Given the description of an element on the screen output the (x, y) to click on. 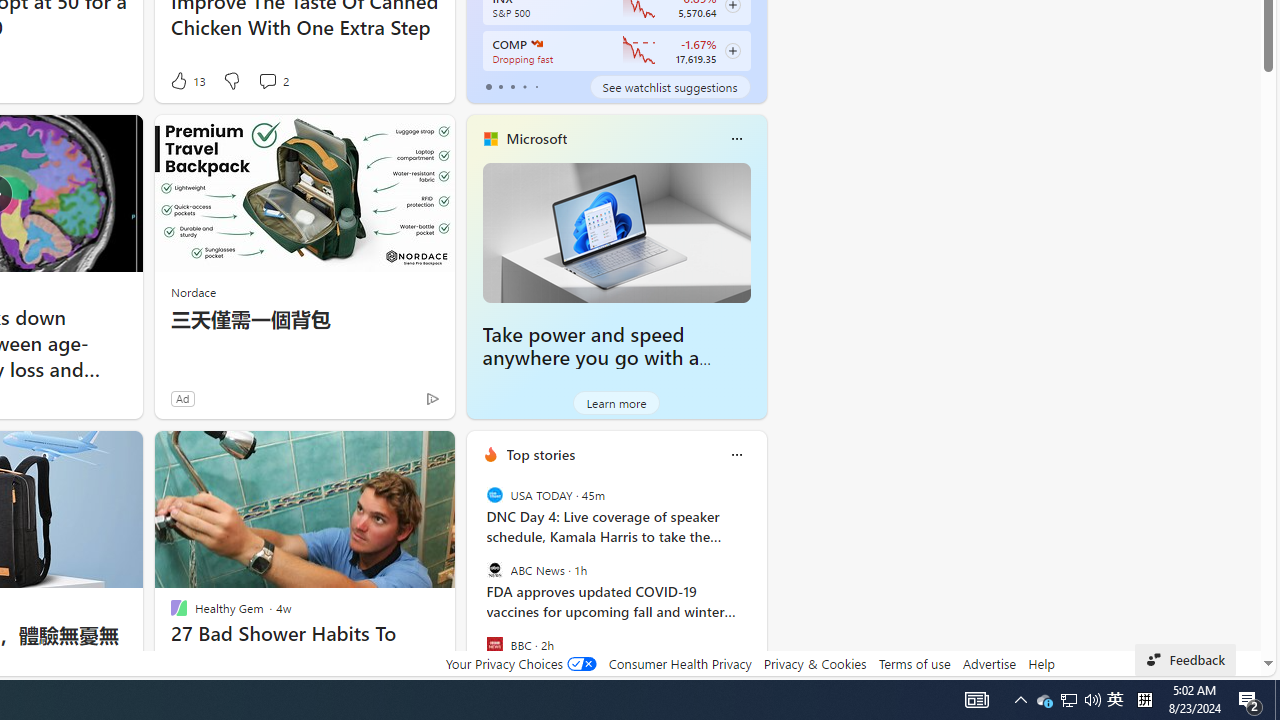
Top stories (540, 454)
tab-2 (511, 86)
Dislike (230, 80)
Terms of use (914, 663)
Class: icon-img (736, 454)
13 Like (186, 80)
tab-4 (535, 86)
View comments 2 Comment (272, 80)
Help (1040, 663)
tab-0 (488, 86)
Advertise (989, 663)
View comments 2 Comment (267, 80)
Nordace (193, 291)
